Given the description of an element on the screen output the (x, y) to click on. 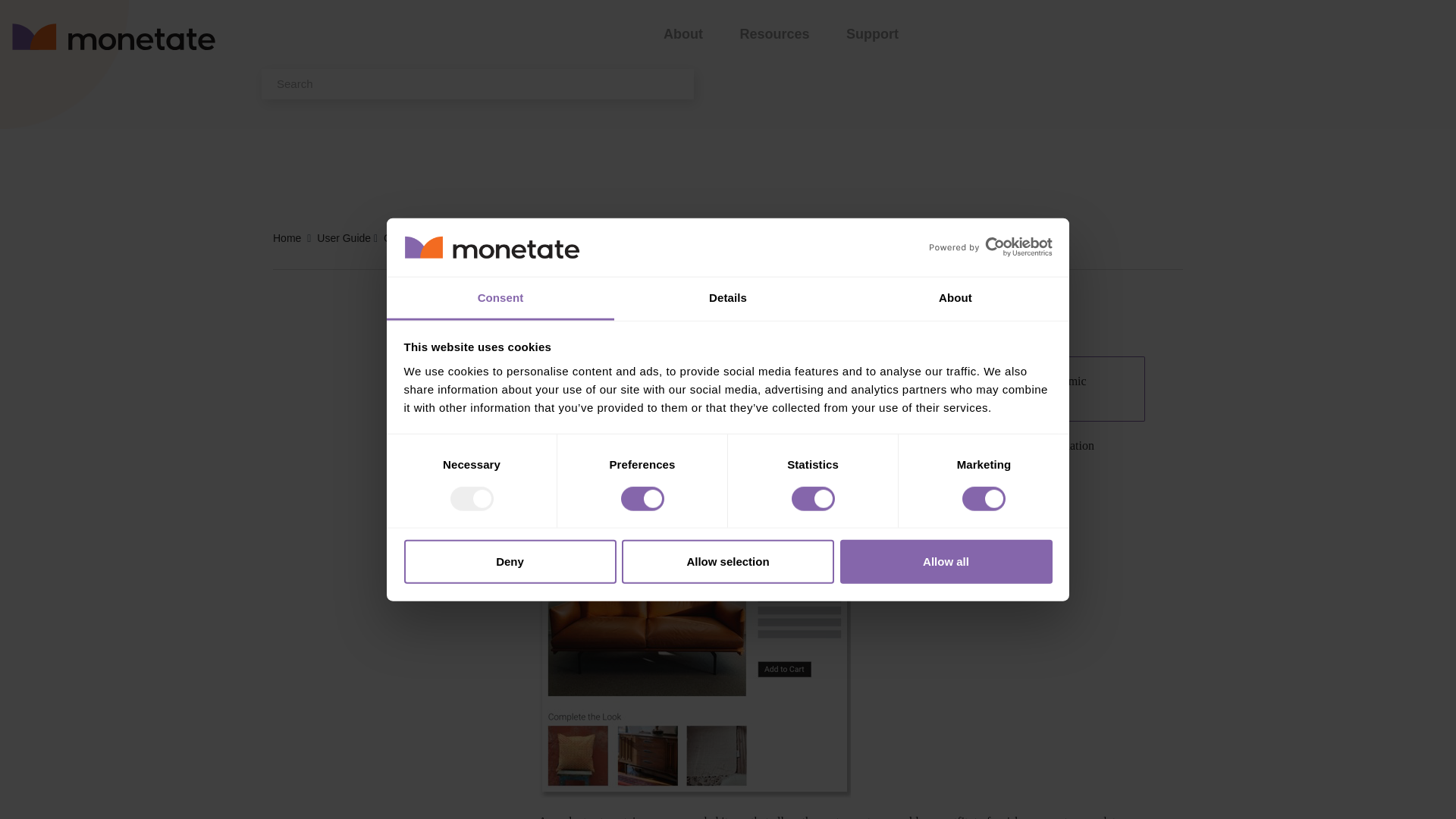
Dynamic Bundles (499, 238)
Details (727, 299)
User Guide (345, 238)
Download PDF (912, 324)
Components (415, 238)
Deny (509, 561)
Consent (500, 299)
Allow all (946, 561)
About (954, 299)
Allow selection (727, 561)
